Given the description of an element on the screen output the (x, y) to click on. 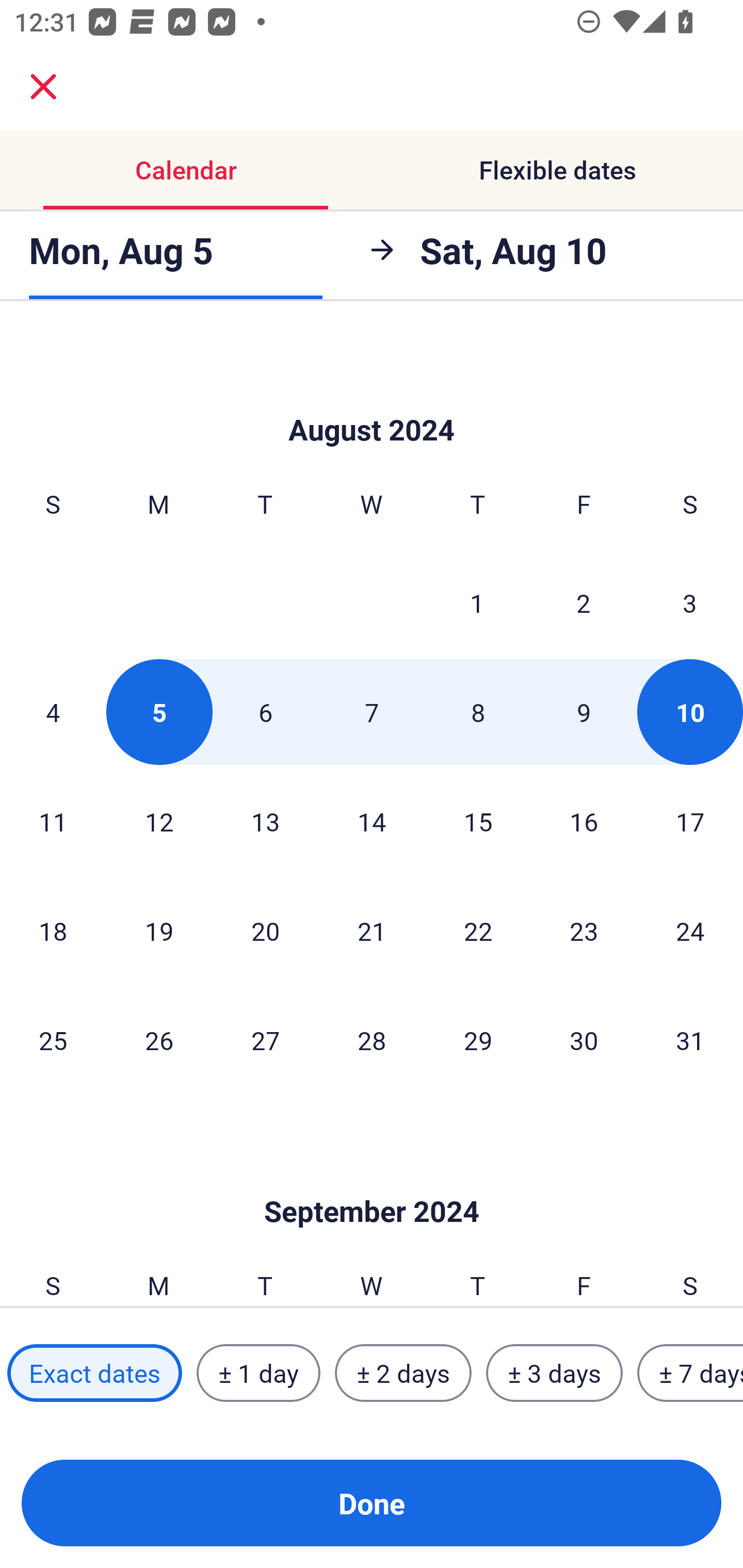
close. (43, 86)
Flexible dates (557, 170)
Skip to Done (371, 398)
1 Thursday, August 1, 2024 (477, 602)
2 Friday, August 2, 2024 (583, 602)
3 Saturday, August 3, 2024 (689, 602)
4 Sunday, August 4, 2024 (53, 711)
11 Sunday, August 11, 2024 (53, 821)
12 Monday, August 12, 2024 (159, 821)
13 Tuesday, August 13, 2024 (265, 821)
14 Wednesday, August 14, 2024 (371, 821)
15 Thursday, August 15, 2024 (477, 821)
16 Friday, August 16, 2024 (584, 821)
17 Saturday, August 17, 2024 (690, 821)
18 Sunday, August 18, 2024 (53, 930)
19 Monday, August 19, 2024 (159, 930)
20 Tuesday, August 20, 2024 (265, 930)
21 Wednesday, August 21, 2024 (371, 930)
22 Thursday, August 22, 2024 (477, 930)
23 Friday, August 23, 2024 (584, 930)
24 Saturday, August 24, 2024 (690, 930)
25 Sunday, August 25, 2024 (53, 1039)
26 Monday, August 26, 2024 (159, 1039)
27 Tuesday, August 27, 2024 (265, 1039)
28 Wednesday, August 28, 2024 (371, 1039)
29 Thursday, August 29, 2024 (477, 1039)
30 Friday, August 30, 2024 (584, 1039)
31 Saturday, August 31, 2024 (690, 1039)
Skip to Done (371, 1180)
Exact dates (94, 1372)
± 1 day (258, 1372)
± 2 days (403, 1372)
± 3 days (553, 1372)
± 7 days (690, 1372)
Done (371, 1502)
